Given the description of an element on the screen output the (x, y) to click on. 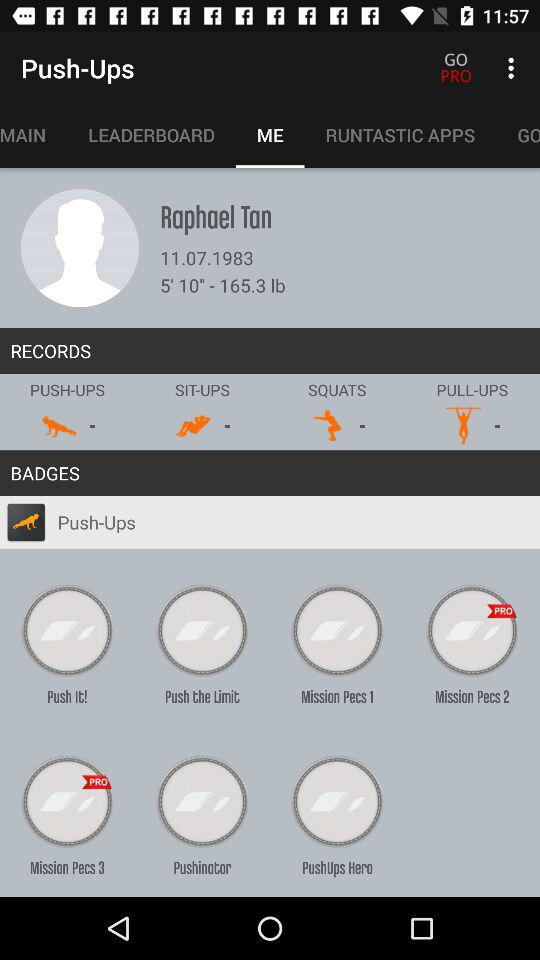
tap the main icon (33, 135)
